Given the description of an element on the screen output the (x, y) to click on. 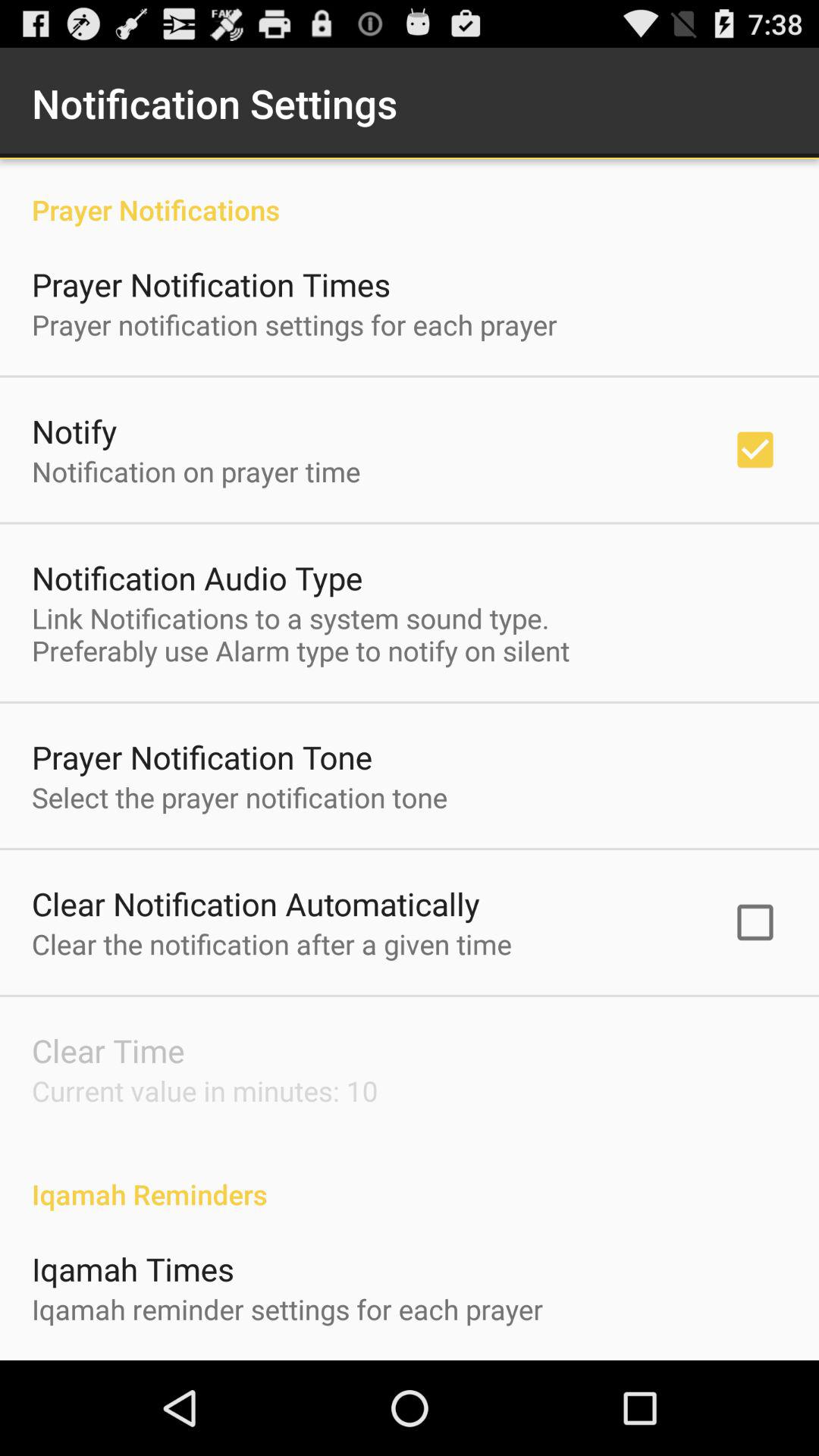
jump until iqamah times icon (132, 1268)
